Given the description of an element on the screen output the (x, y) to click on. 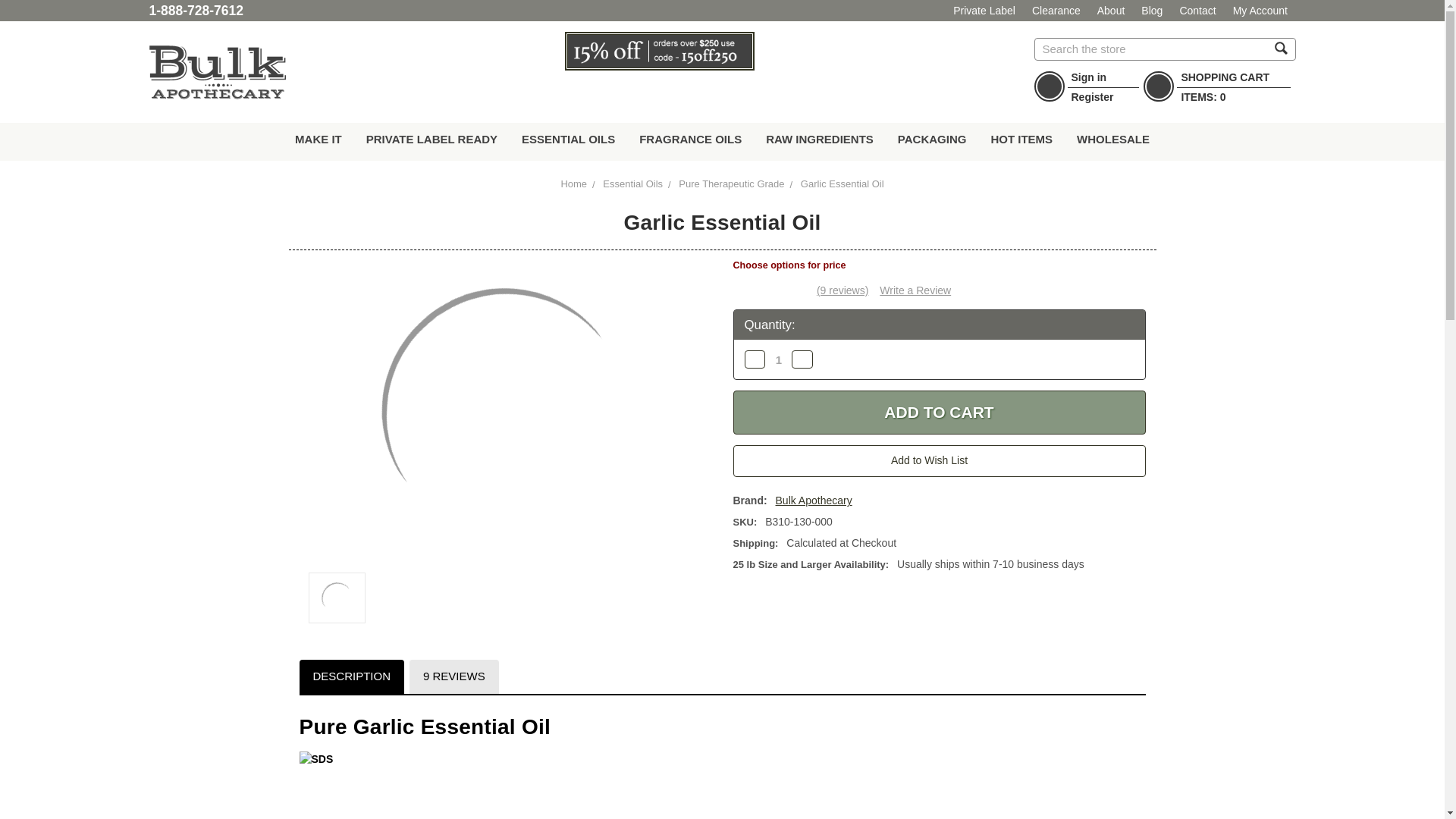
Bulk Apothecary (216, 72)
Pin It (640, 94)
Blog (1153, 10)
Garlic Essential Oil (337, 598)
About (1111, 10)
1 (778, 359)
SHOPPING CART (1224, 77)
Garlic Essential Oil (504, 412)
Contact (1198, 10)
Instagram (677, 94)
Register (1091, 96)
Private Label (984, 10)
1-888-728-7612 (195, 10)
sds-garlic-essential-oil.png (336, 785)
Clearance (1056, 10)
